Given the description of an element on the screen output the (x, y) to click on. 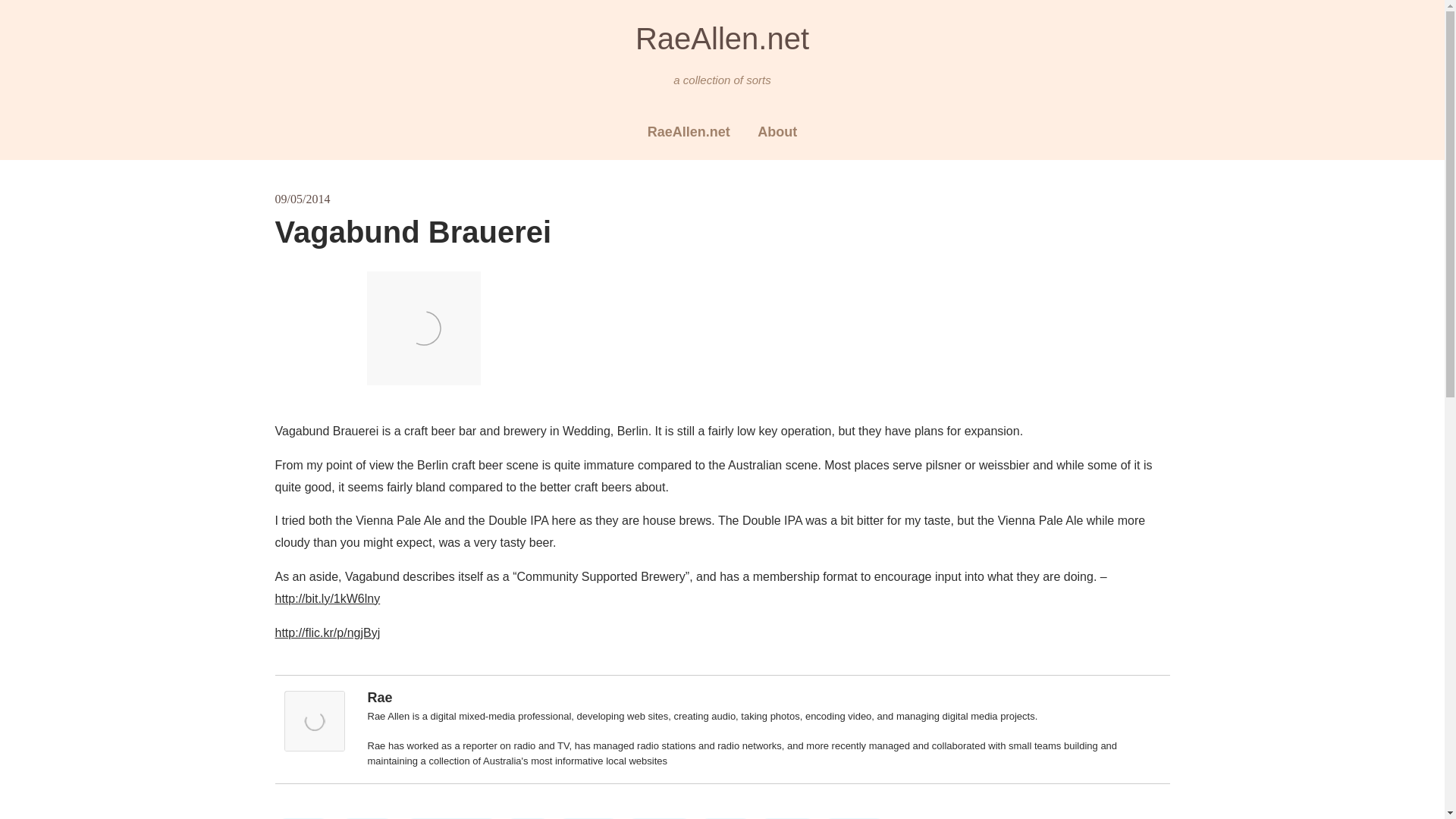
RaeAllen.net (688, 132)
Rae (378, 697)
craftbeer (659, 818)
About (777, 132)
Rae (313, 747)
wedding (853, 818)
IFTTT (786, 818)
Travel (367, 818)
RaeAllen.net (722, 38)
